Given the description of an element on the screen output the (x, y) to click on. 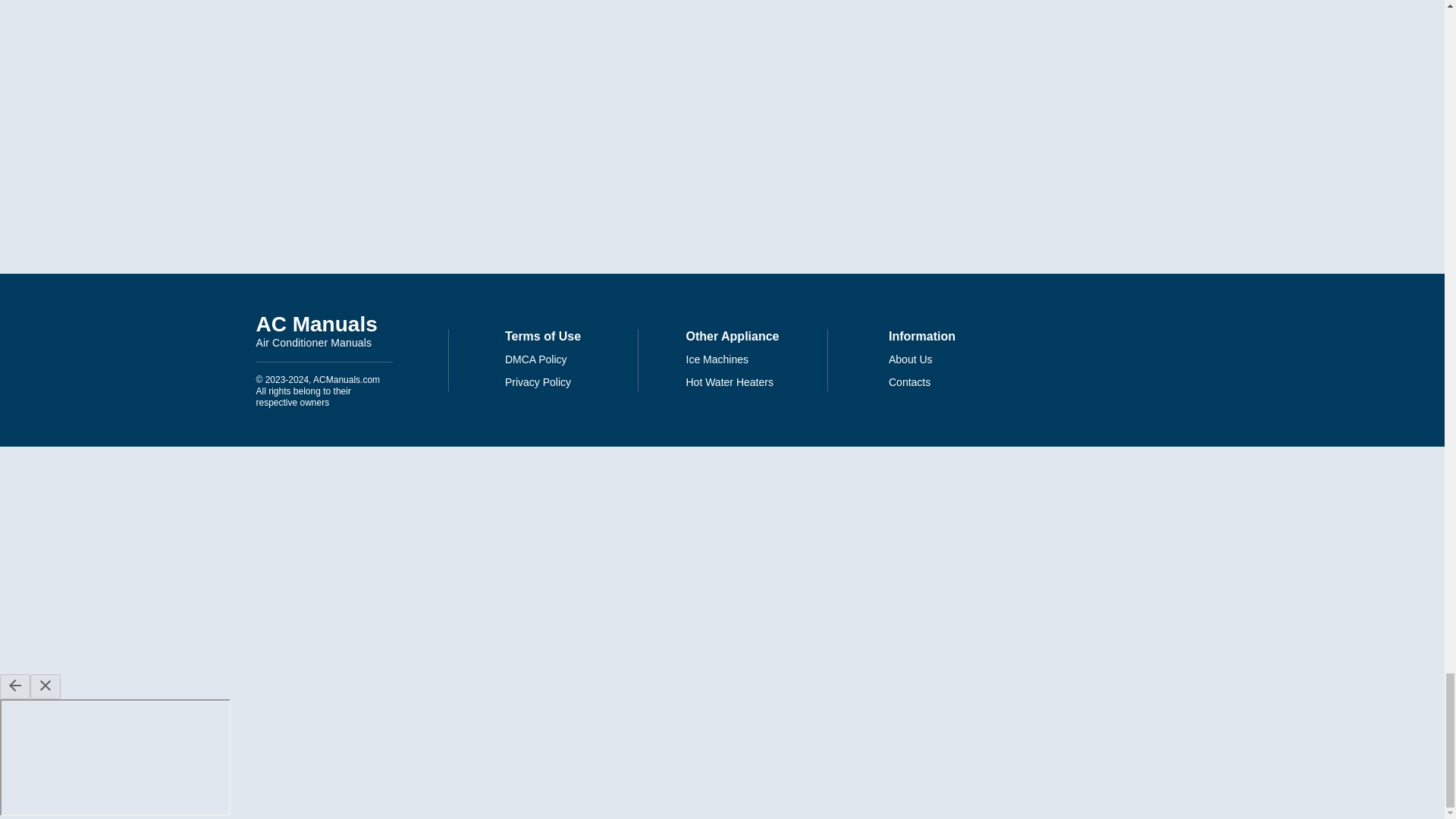
Privacy Policy (537, 382)
DMCA Policy (536, 359)
About Us (324, 330)
Contacts (910, 359)
